Given the description of an element on the screen output the (x, y) to click on. 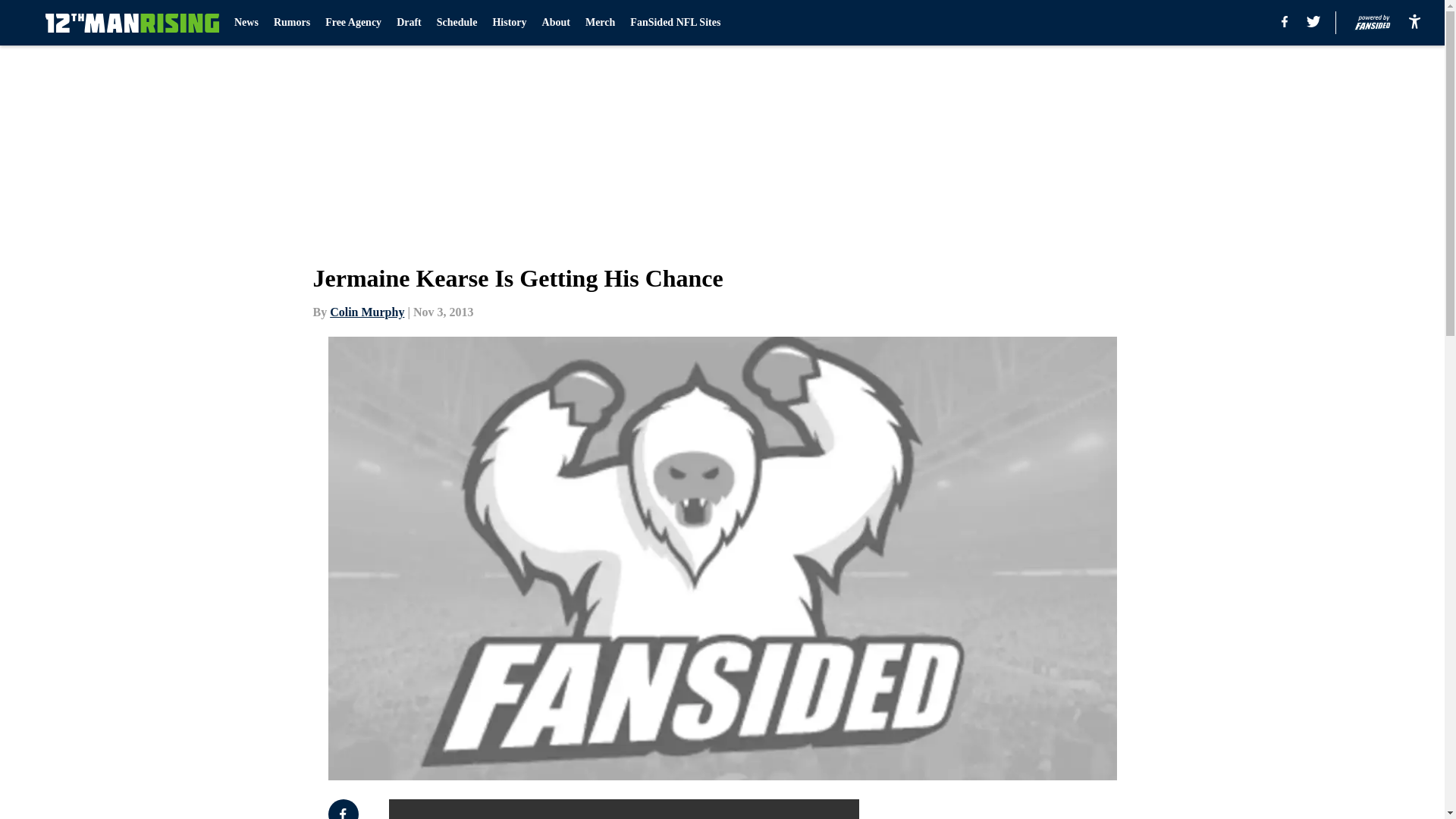
Draft (409, 22)
Merch (599, 22)
FanSided NFL Sites (675, 22)
Free Agency (352, 22)
Rumors (291, 22)
News (246, 22)
History (508, 22)
Colin Murphy (367, 311)
About (555, 22)
Schedule (456, 22)
